Given the description of an element on the screen output the (x, y) to click on. 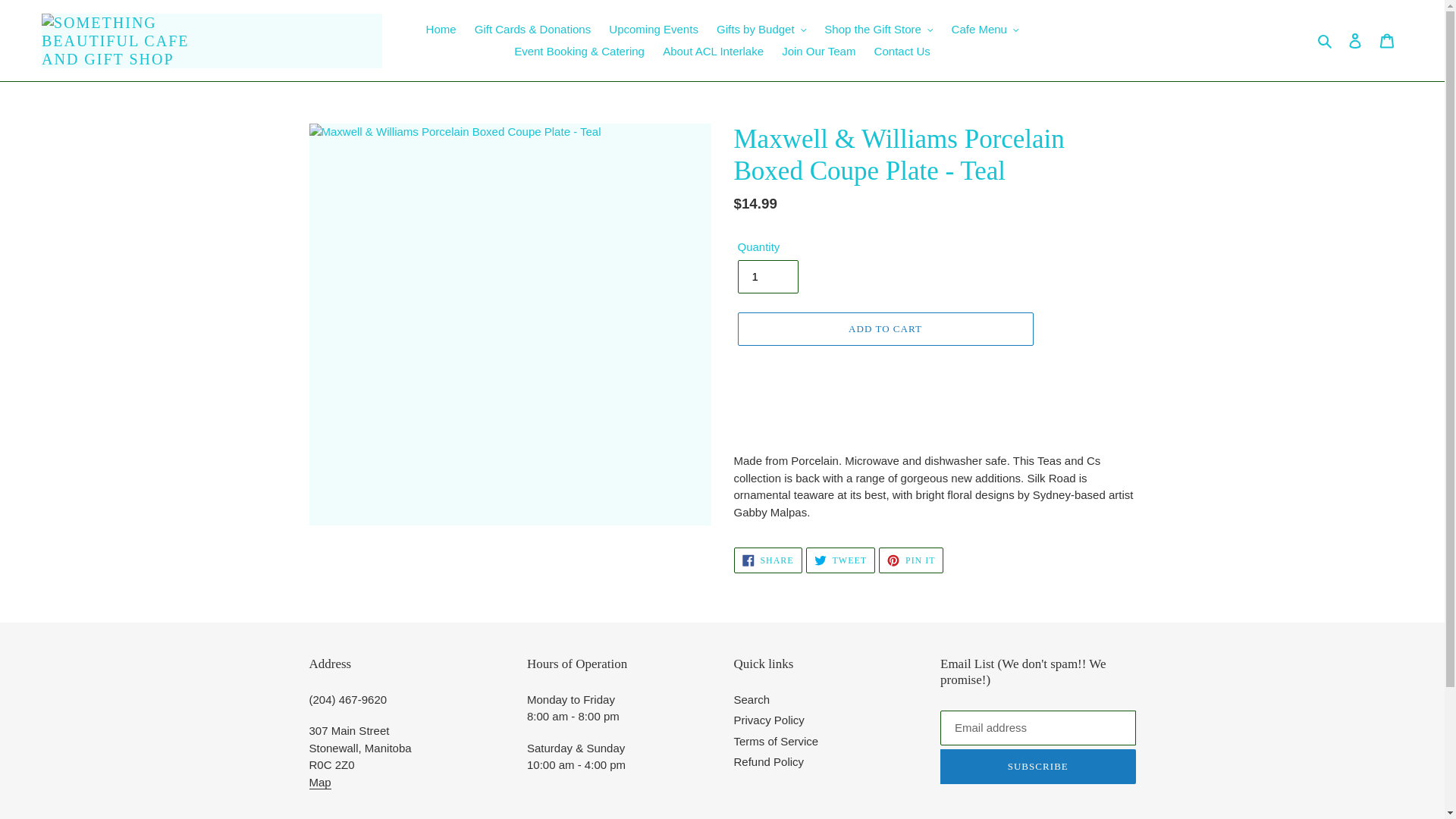
Gifts by Budget (761, 29)
1 (766, 276)
Shop the Gift Store (878, 29)
Home (441, 29)
Upcoming Events (653, 29)
